Given the description of an element on the screen output the (x, y) to click on. 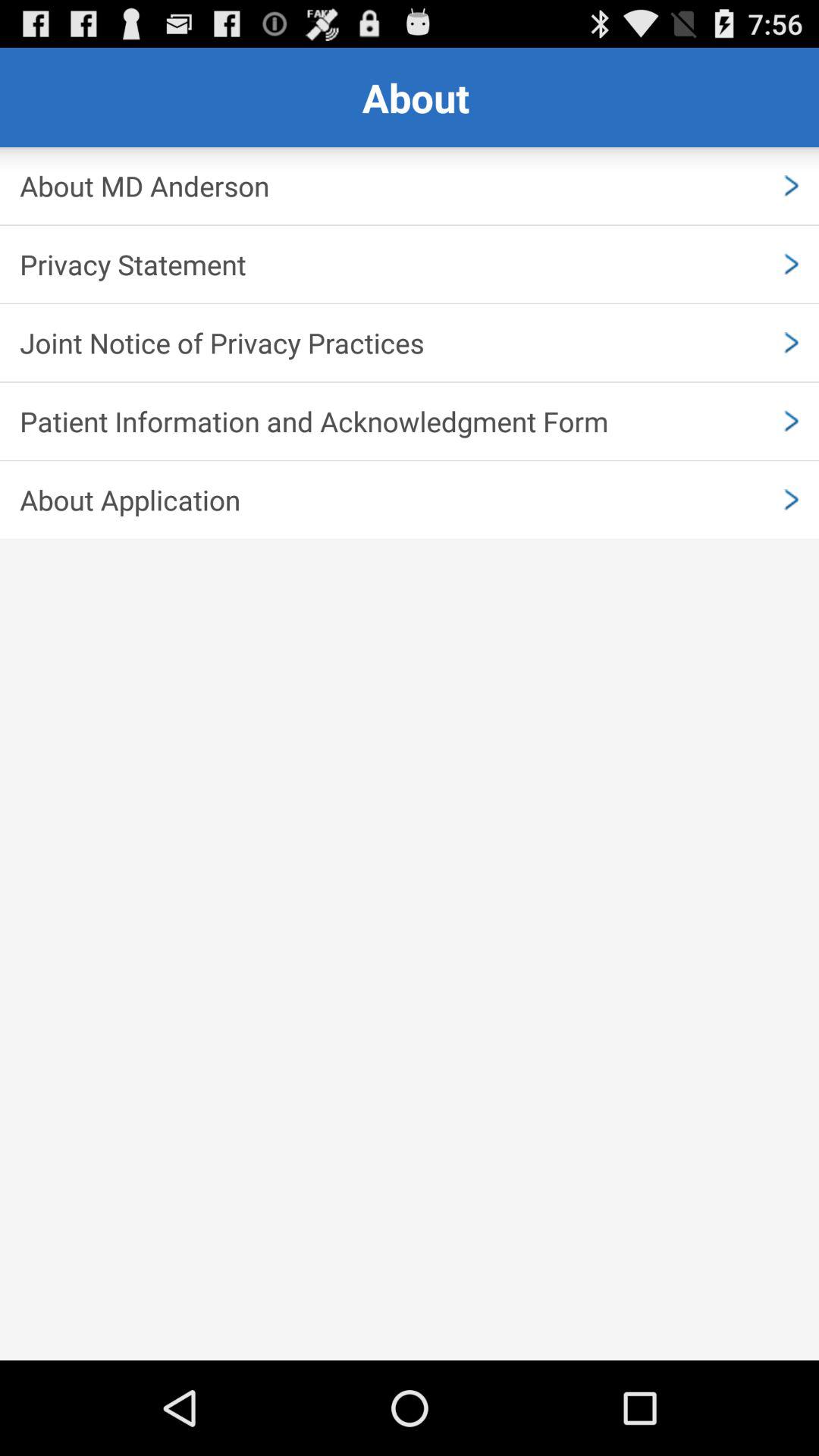
scroll until the patient information and icon (409, 421)
